Given the description of an element on the screen output the (x, y) to click on. 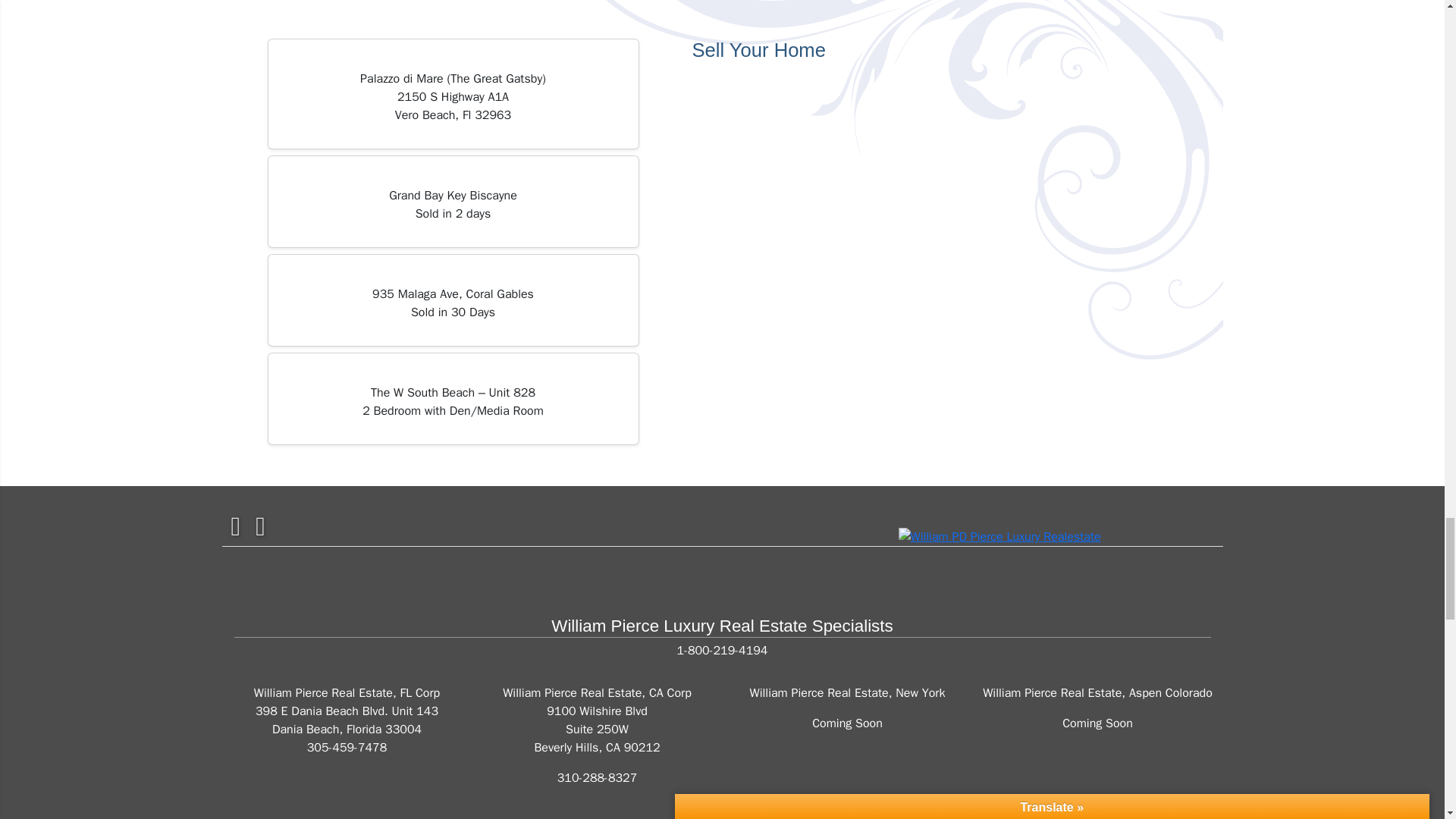
Mansions in the Skies (999, 535)
